Given the description of an element on the screen output the (x, y) to click on. 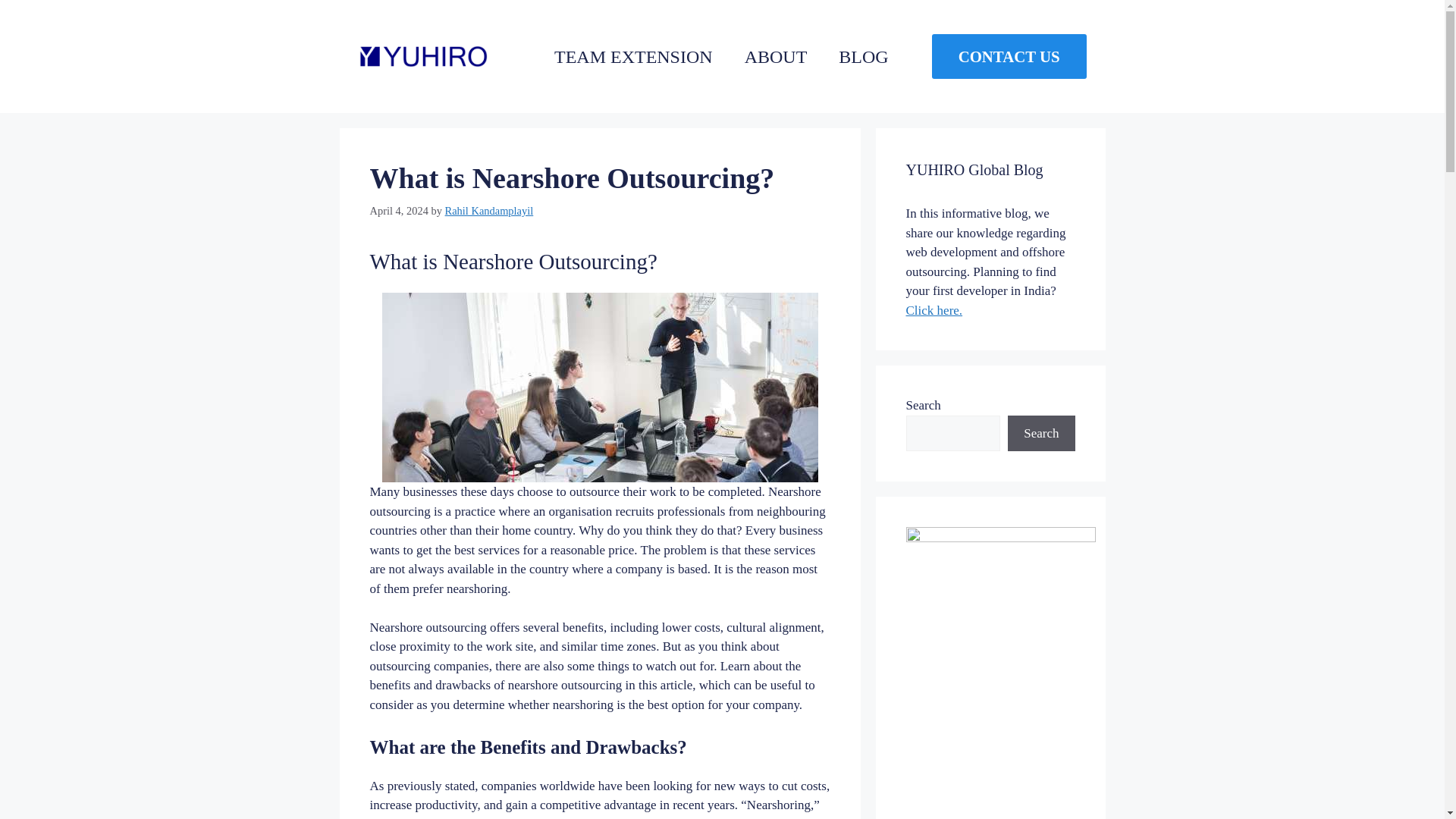
CONTACT US (1008, 56)
TEAM EXTENSION (633, 56)
Search (1040, 433)
Rahil Kandamplayil (489, 210)
Click here. (933, 310)
View all posts by Rahil Kandamplayil (489, 210)
BLOG (863, 56)
ABOUT (775, 56)
